Given the description of an element on the screen output the (x, y) to click on. 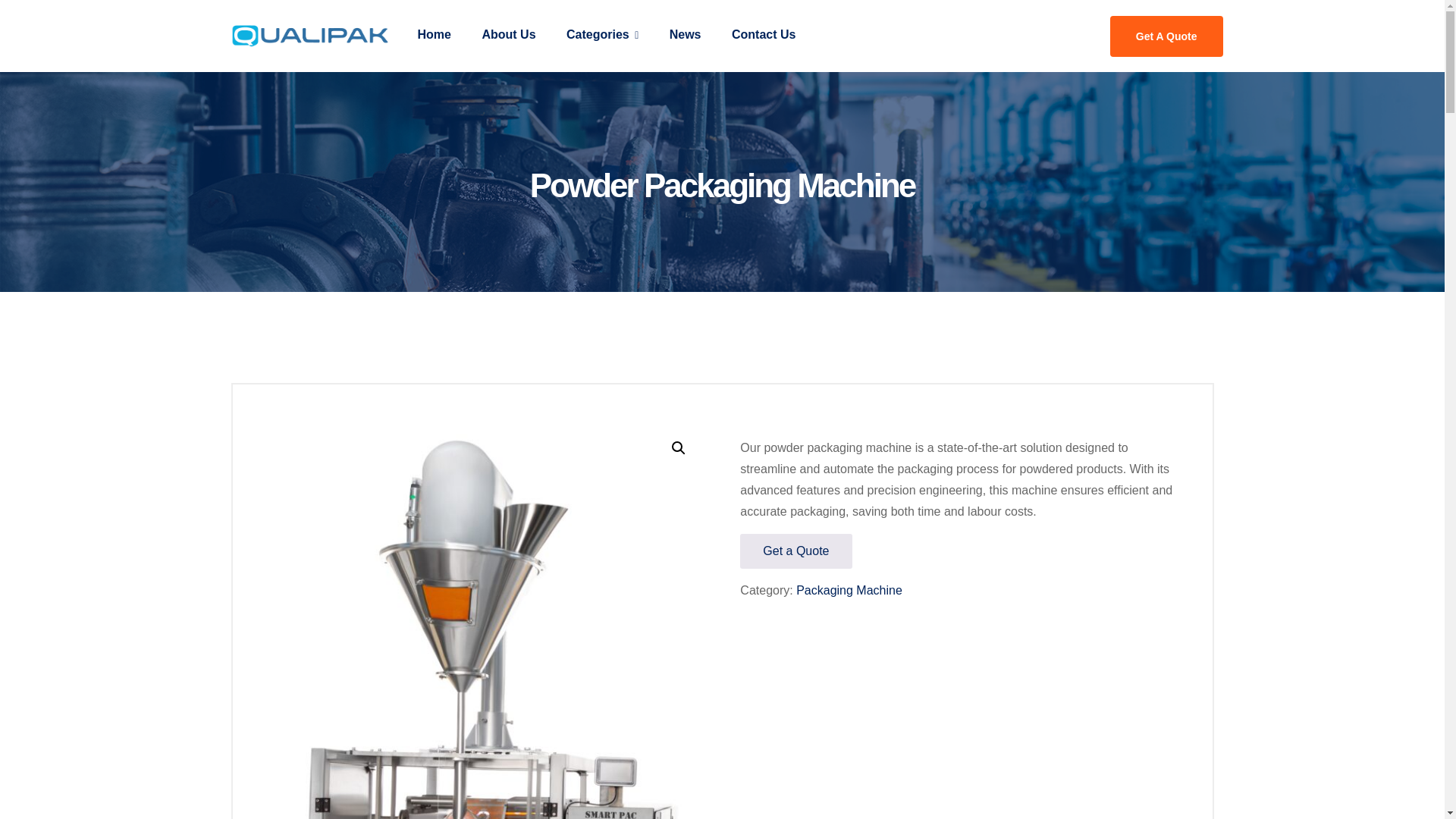
Contact Us (763, 34)
Categories (602, 34)
About Us (507, 34)
Get A Quote (1166, 35)
About Us (507, 34)
Categories (602, 34)
